Given the description of an element on the screen output the (x, y) to click on. 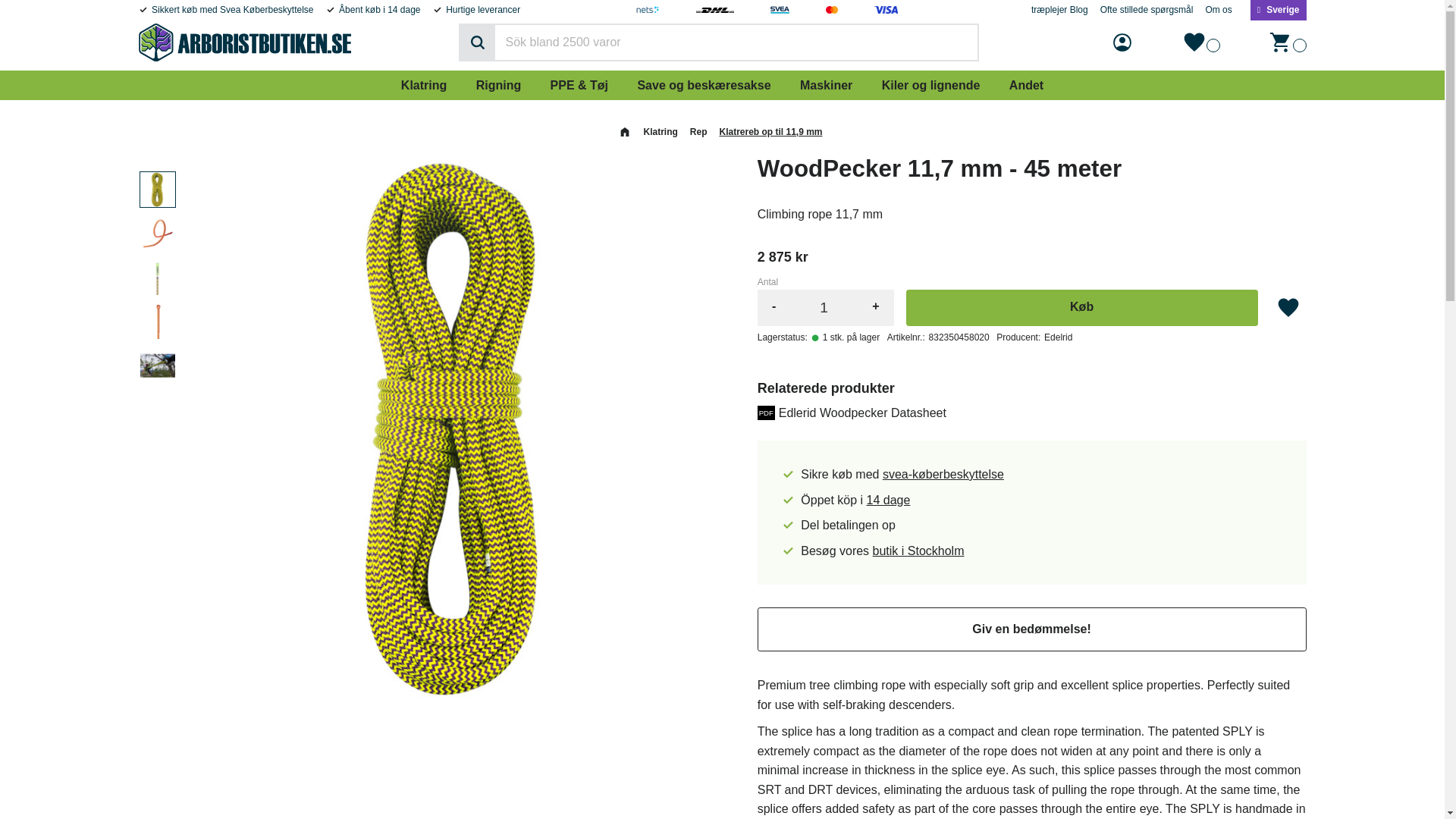
1 (823, 307)
Klatring (424, 84)
Sverige (1278, 10)
Om os (1217, 9)
Klatring (424, 84)
Om os (1217, 9)
